Given the description of an element on the screen output the (x, y) to click on. 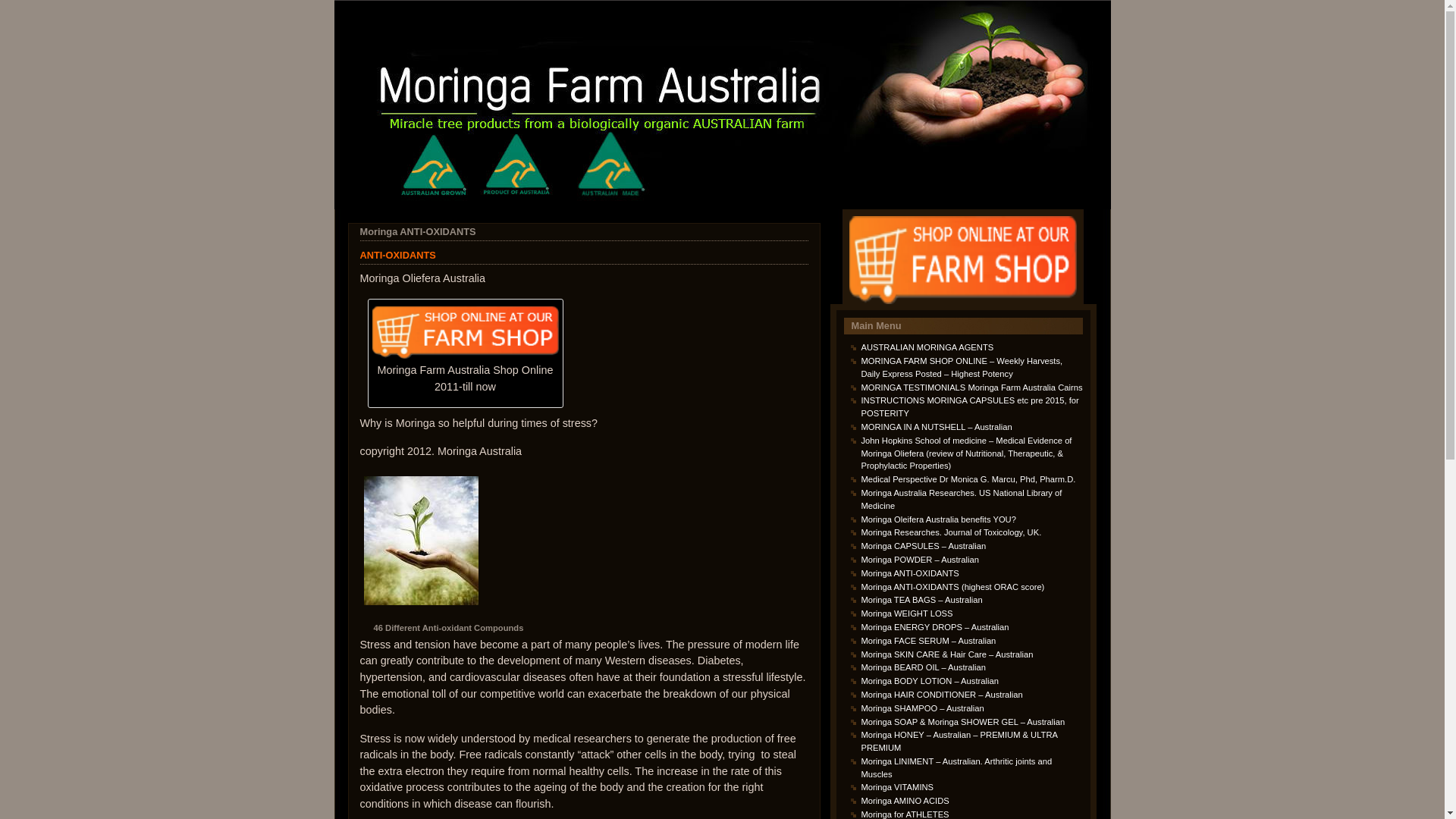
AUSTRALIAN MORINGA AGENTS Element type: text (927, 346)
Moringa Researches. Journal of Toxicology, UK. Element type: text (951, 531)
Moringa ANTI-OXIDANTS Element type: text (910, 572)
Moringa Farm Australia Shop Online Element type: hover (465, 332)
MORINGA TESTIMONIALS Moringa Farm Australia Cairns Element type: text (971, 387)
Moringa VITAMINS Element type: text (897, 786)
Medical Perspective Dr Monica G. Marcu, Phd, Pharm.D. Element type: text (968, 478)
Moringa AMINO ACIDS Element type: text (905, 800)
INSTRUCTIONS MORINGA CAPSULES etc pre 2015, for POSTERITY Element type: text (970, 406)
Moringa ANTI-OXIDANTS Element type: text (417, 231)
Moringa ANTI-OXIDANTS (highest ORAC score) Element type: text (952, 586)
Moringa WEIGHT LOSS Element type: text (907, 613)
Moringa Oleifera Australia benefits YOU? Element type: text (938, 519)
